Given the description of an element on the screen output the (x, y) to click on. 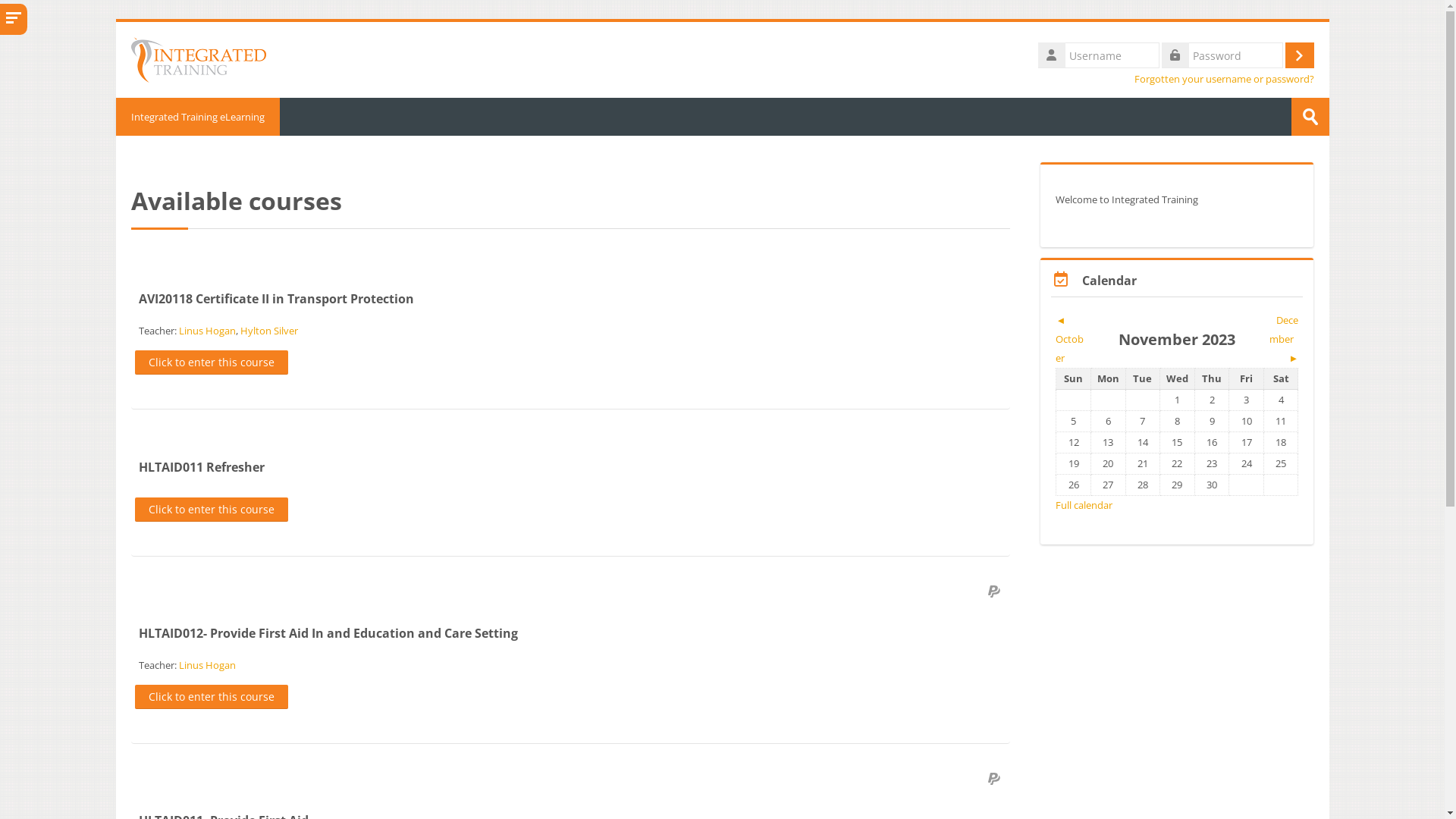
Click to enter this course Element type: text (211, 696)
HLTAID011 Refresher Element type: text (200, 466)
Log in Element type: text (1298, 55)
Click to enter this course Element type: text (211, 362)
Skip Calendar Element type: text (1039, 257)
Home Element type: hover (197, 58)
Forgotten your username or password? Element type: text (1224, 78)
PayPal Element type: hover (996, 778)
Full calendar Element type: text (1083, 504)
Hylton Silver Element type: text (268, 330)
Click to enter this course Element type: text (211, 509)
Linus Hogan Element type: text (206, 664)
AVI20118 Certificate II in Transport Protection Element type: text (275, 298)
Integrated Training eLearning Element type: text (197, 116)
Submit Element type: text (1309, 116)
Linus Hogan Element type: text (206, 330)
PayPal Element type: hover (996, 591)
